Given the description of an element on the screen output the (x, y) to click on. 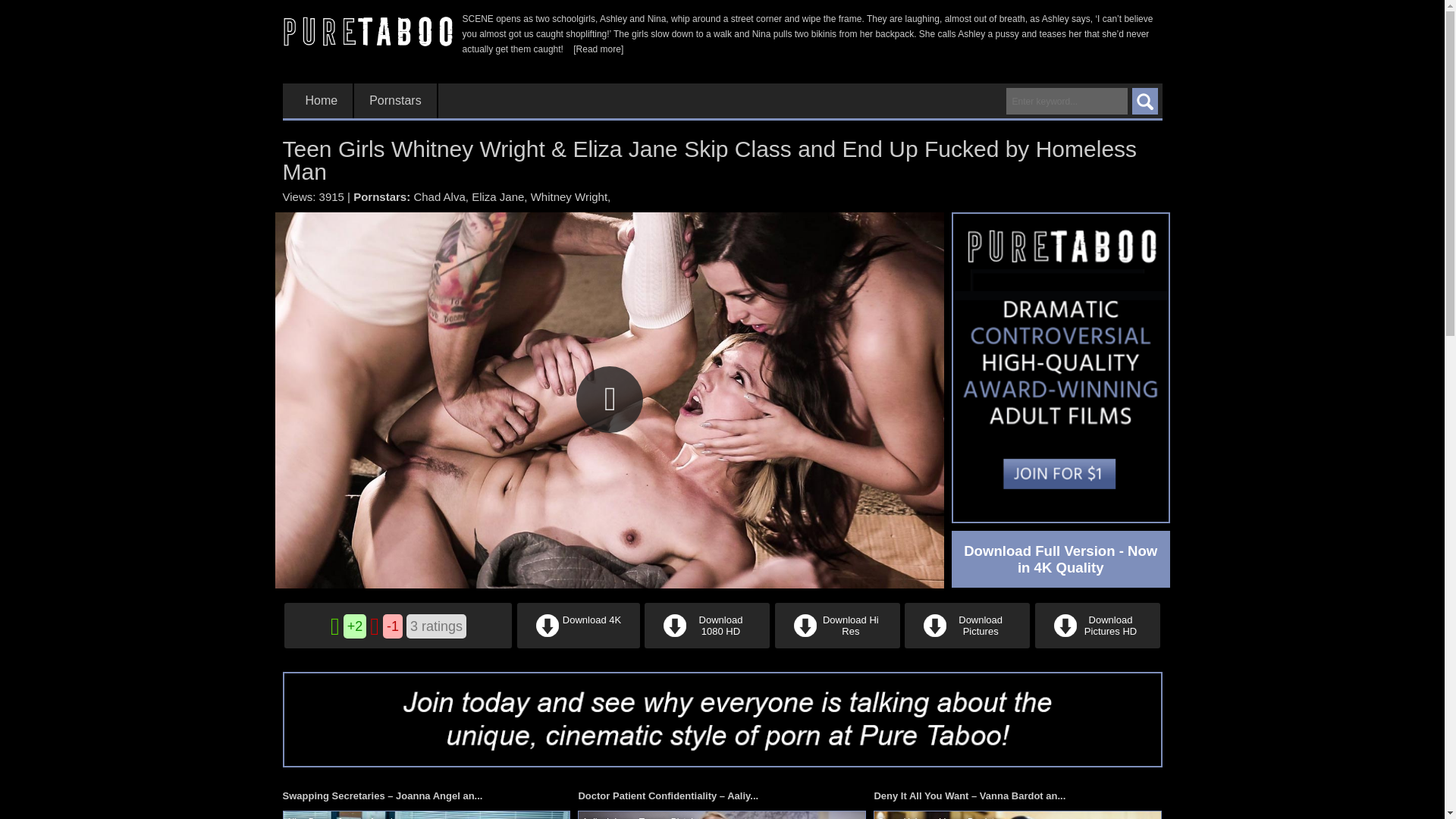
Home (320, 101)
Home (320, 101)
Dislike! (375, 626)
Pornstars (394, 101)
Like! (336, 626)
